Given the description of an element on the screen output the (x, y) to click on. 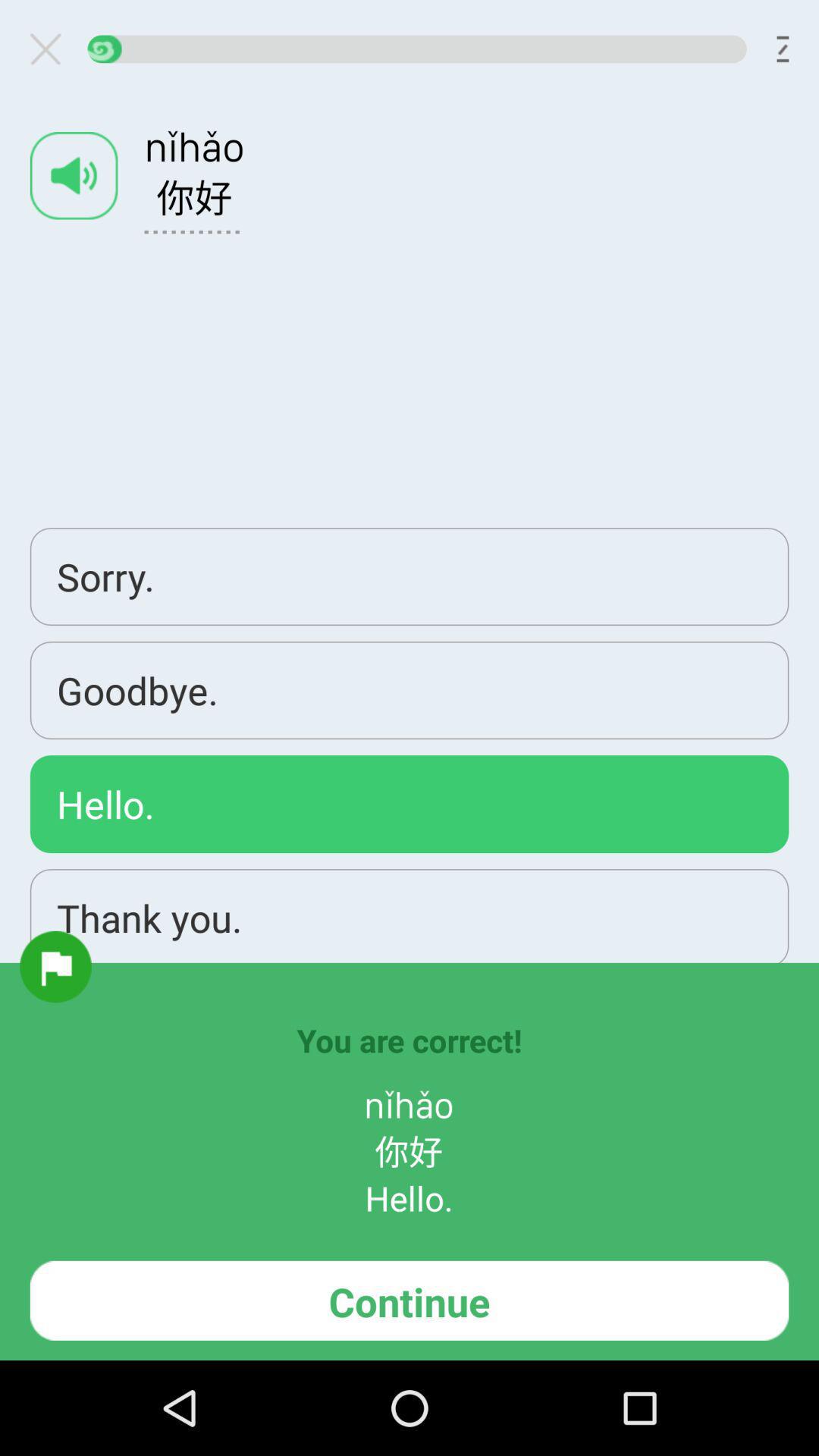
swipe until continue button (409, 1300)
